Given the description of an element on the screen output the (x, y) to click on. 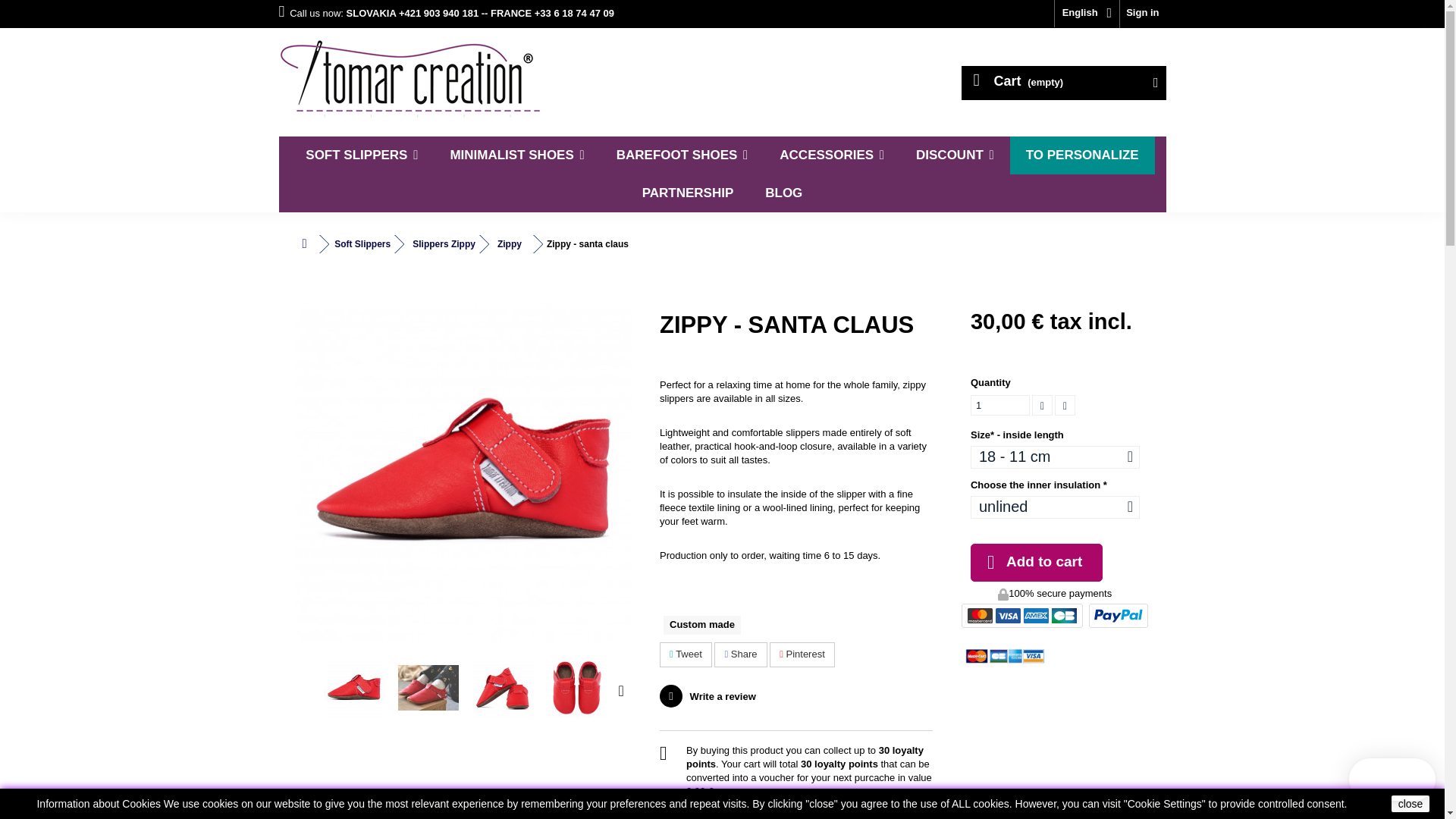
SOFT SLIPPERS (361, 155)
MINIMALIST SHOES (516, 155)
Sign in (1142, 13)
Log in to your customer account (1142, 13)
Tomar Creation (419, 78)
View my shopping cart (1063, 82)
1 (1000, 404)
